Given the description of an element on the screen output the (x, y) to click on. 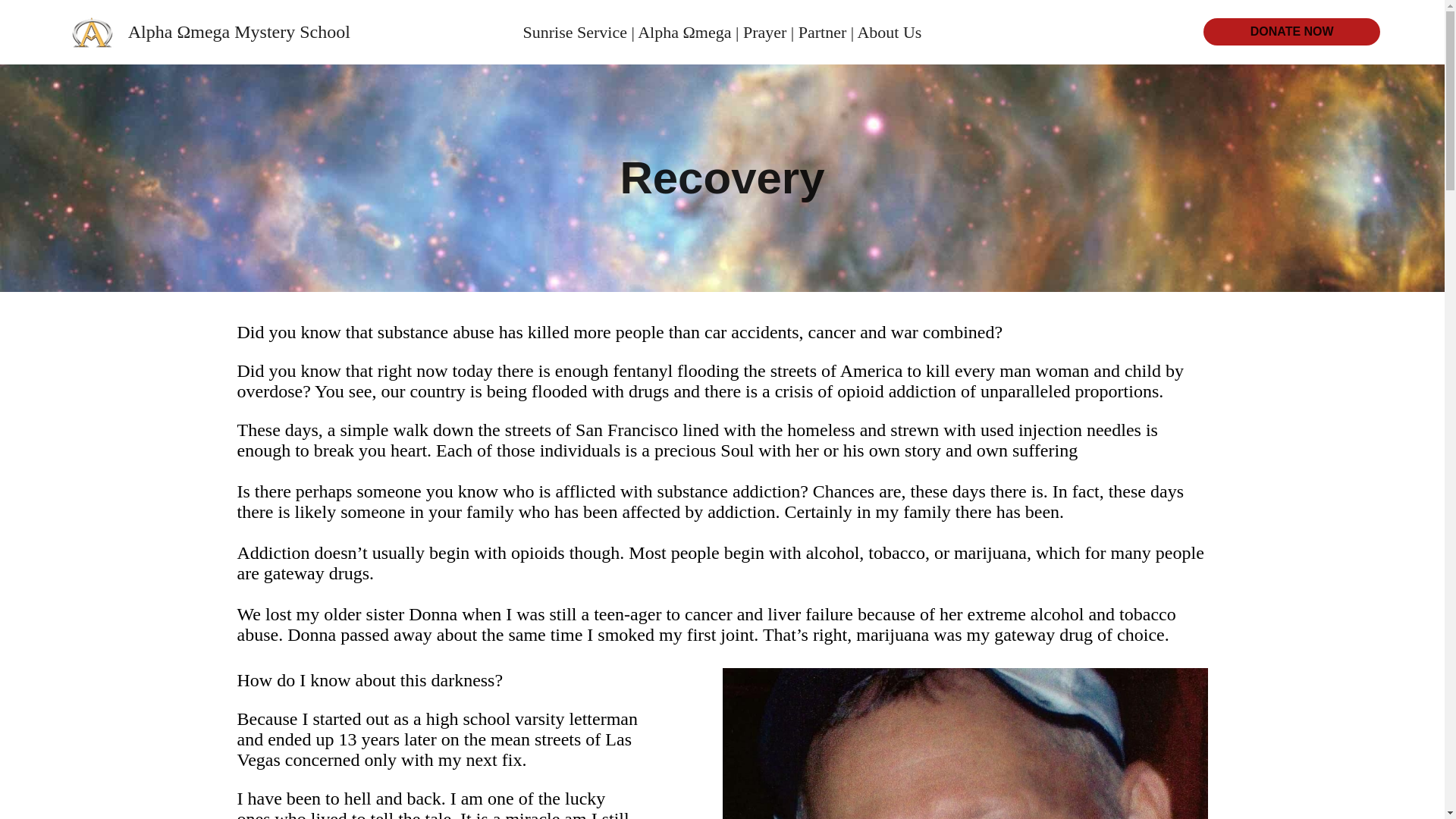
Sunrise Service  (576, 31)
Partner (822, 31)
DONATE NOW (1292, 31)
Prayer (764, 31)
About Us (889, 31)
